Given the description of an element on the screen output the (x, y) to click on. 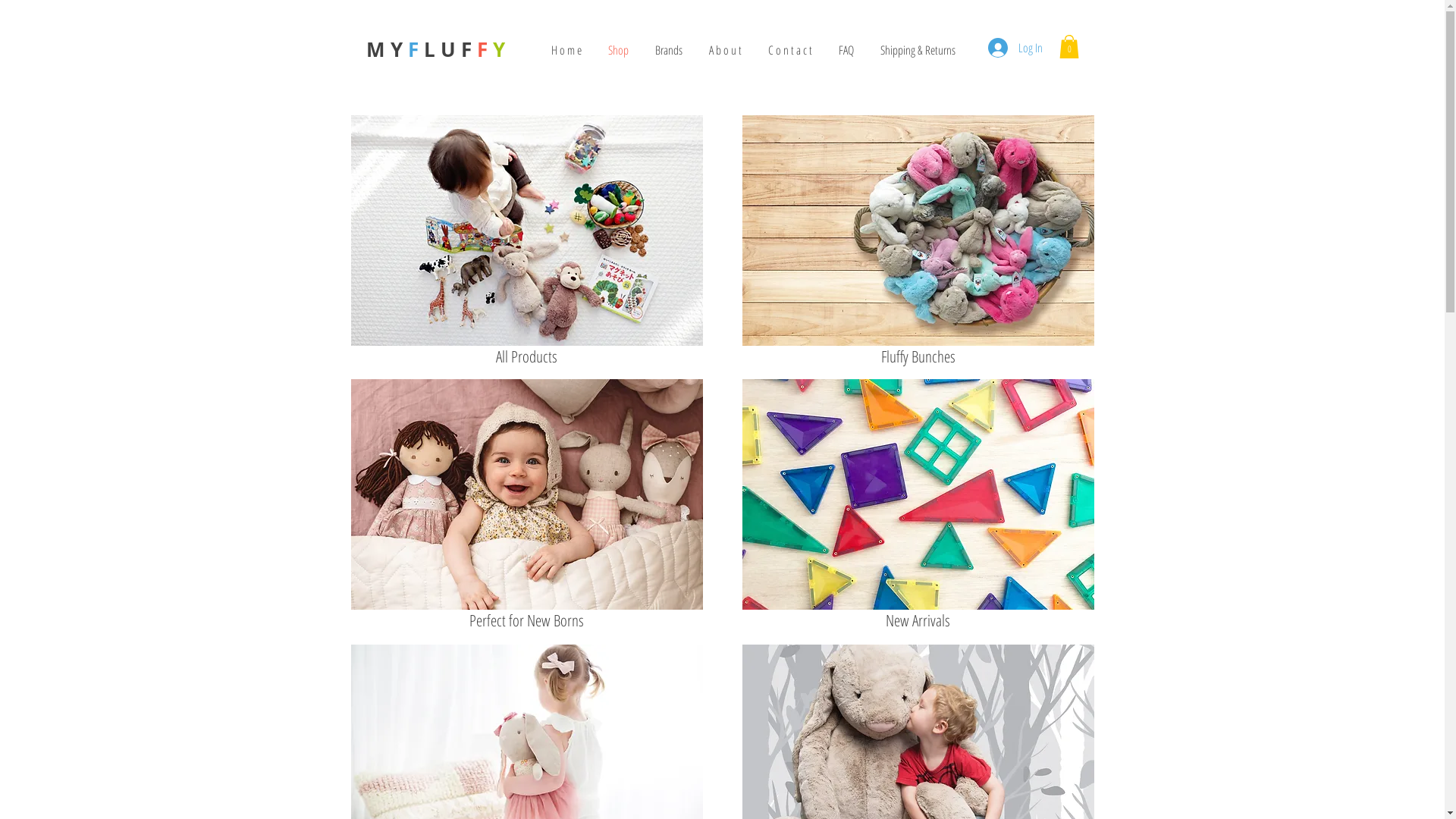
Log In Element type: text (1014, 47)
Shipping & Returns Element type: text (917, 50)
Brands Element type: text (668, 50)
M Y F L U F F Y Element type: text (434, 48)
H o m e Element type: text (566, 50)
0 Element type: text (1068, 46)
Shop Element type: text (617, 50)
A b o u t Element type: text (725, 50)
C o n t a c t Element type: text (790, 50)
FAQ Element type: text (845, 50)
